Given the description of an element on the screen output the (x, y) to click on. 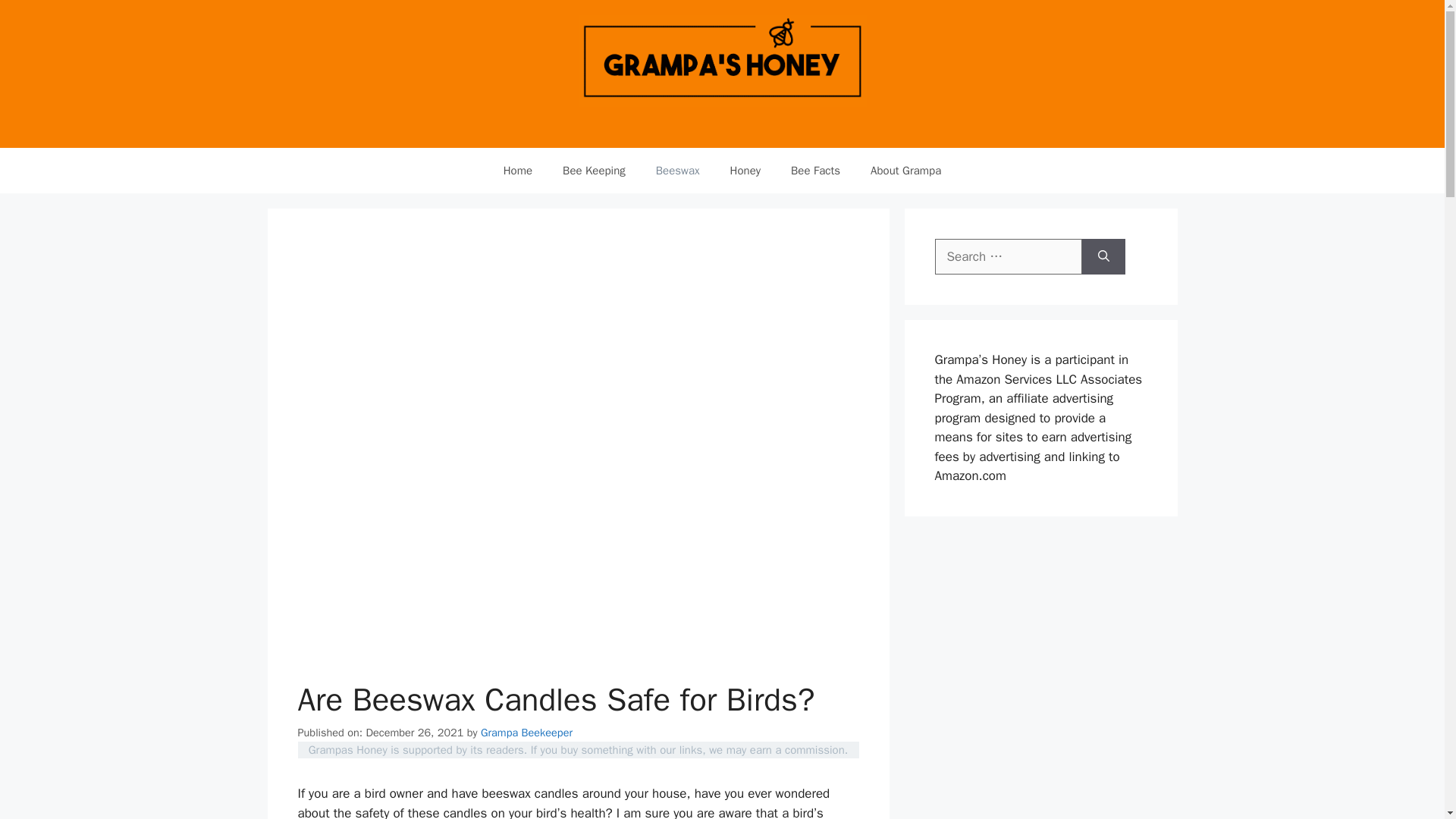
Bee Keeping (593, 170)
Grampa Beekeeper (526, 732)
Home (517, 170)
Bee Facts (816, 170)
About Grampa (906, 170)
Search for: (1007, 257)
Beeswax (677, 170)
View all posts by Grampa Beekeeper (526, 732)
Honey (745, 170)
